Given the description of an element on the screen output the (x, y) to click on. 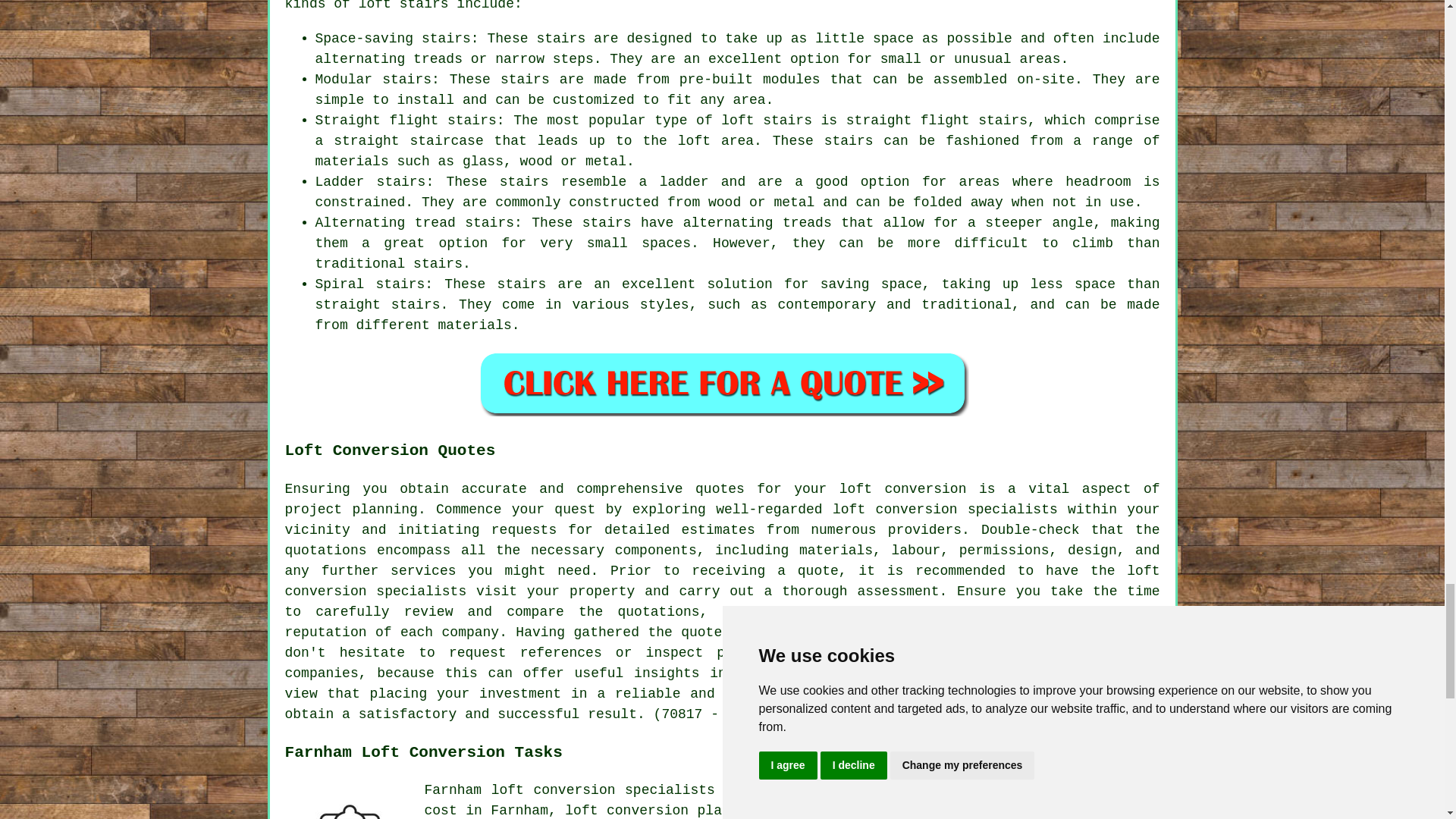
Farnham Loft Conversion Tasks (349, 799)
loft conversion specialists (603, 789)
quotes (719, 488)
